Given the description of an element on the screen output the (x, y) to click on. 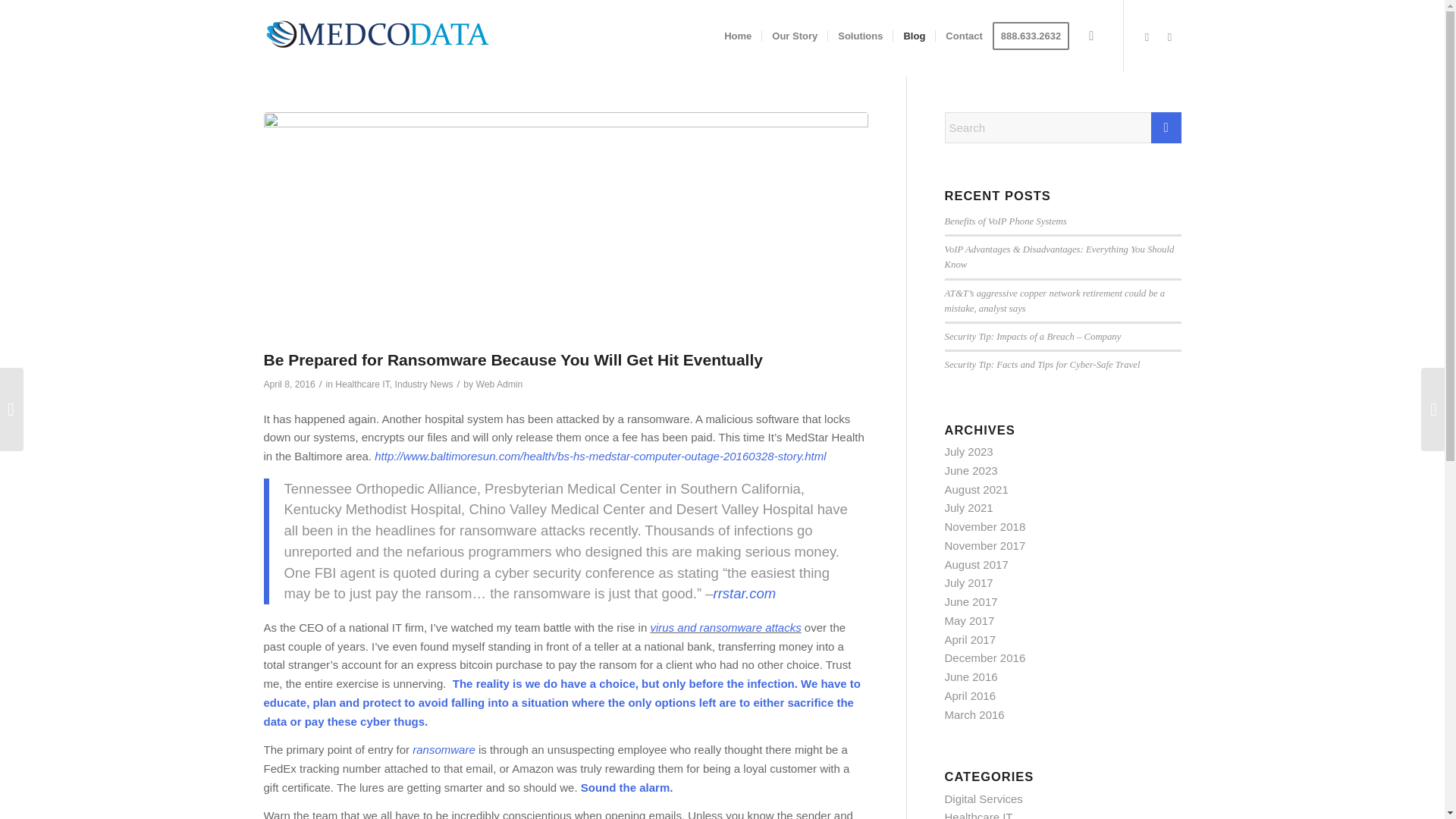
June 2023 (970, 470)
LinkedIn (1146, 36)
virus and ransomware attacks (724, 626)
888.633.2632 (1036, 36)
Security Tip: Facts and Tips for Cyber-Safe Travel (1042, 364)
Solutions (859, 36)
ransomware (444, 748)
July 2023 (968, 451)
Benefits of VoIP Phone Systems (1005, 221)
rrstar.com (744, 593)
Industry News (423, 384)
Web Admin (499, 384)
August 2021 (976, 489)
Facebook (1169, 36)
